Given the description of an element on the screen output the (x, y) to click on. 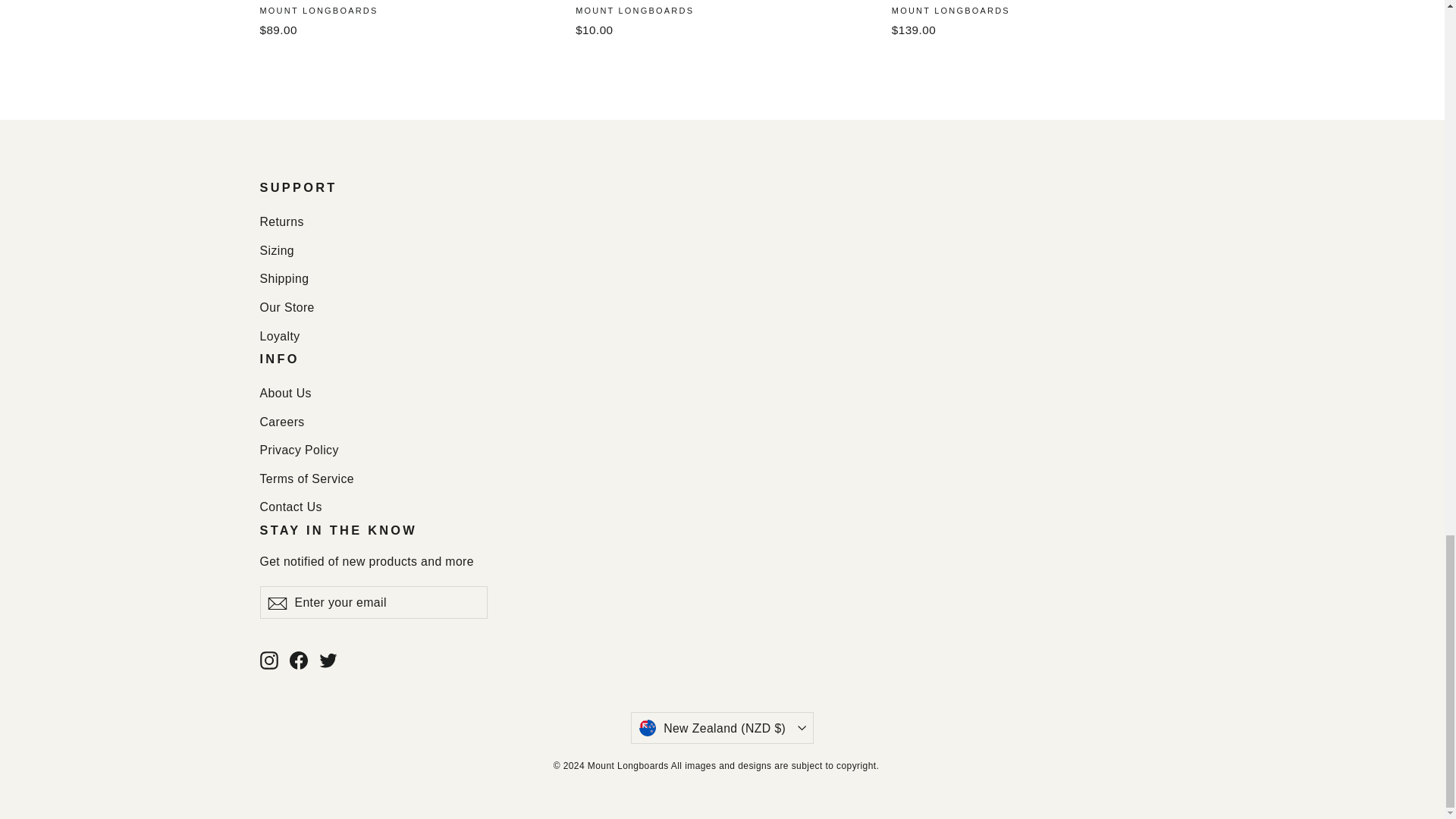
Mount Longboards on Facebook (298, 659)
Mount Longboards on Twitter (327, 659)
twitter (327, 660)
icon-email (276, 603)
instagram (268, 660)
